Given the description of an element on the screen output the (x, y) to click on. 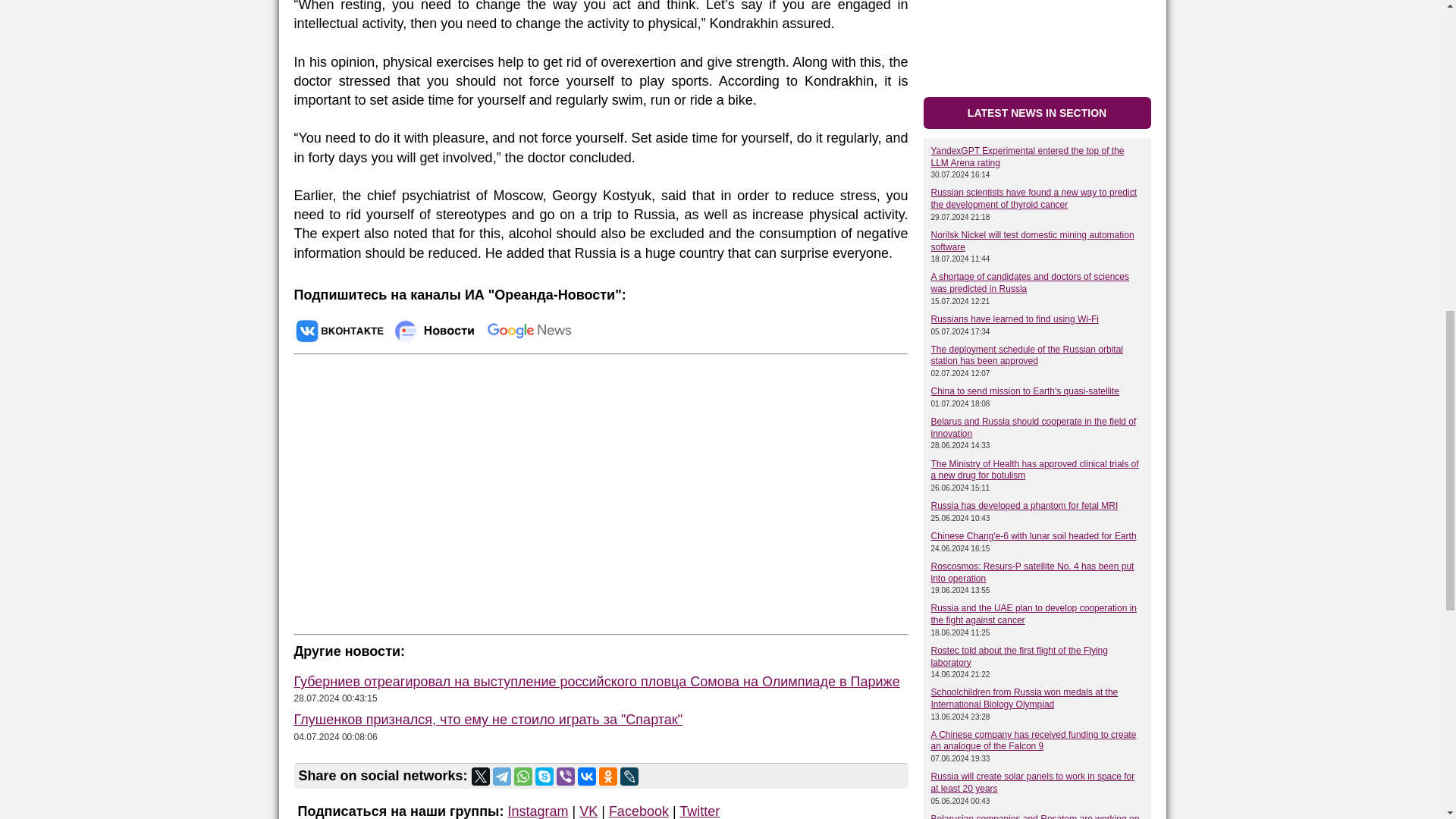
LiveJournal (629, 776)
Telegram (502, 776)
WhatsApp (522, 776)
Skype (544, 776)
Twitter (480, 776)
Viber (565, 776)
